Given the description of an element on the screen output the (x, y) to click on. 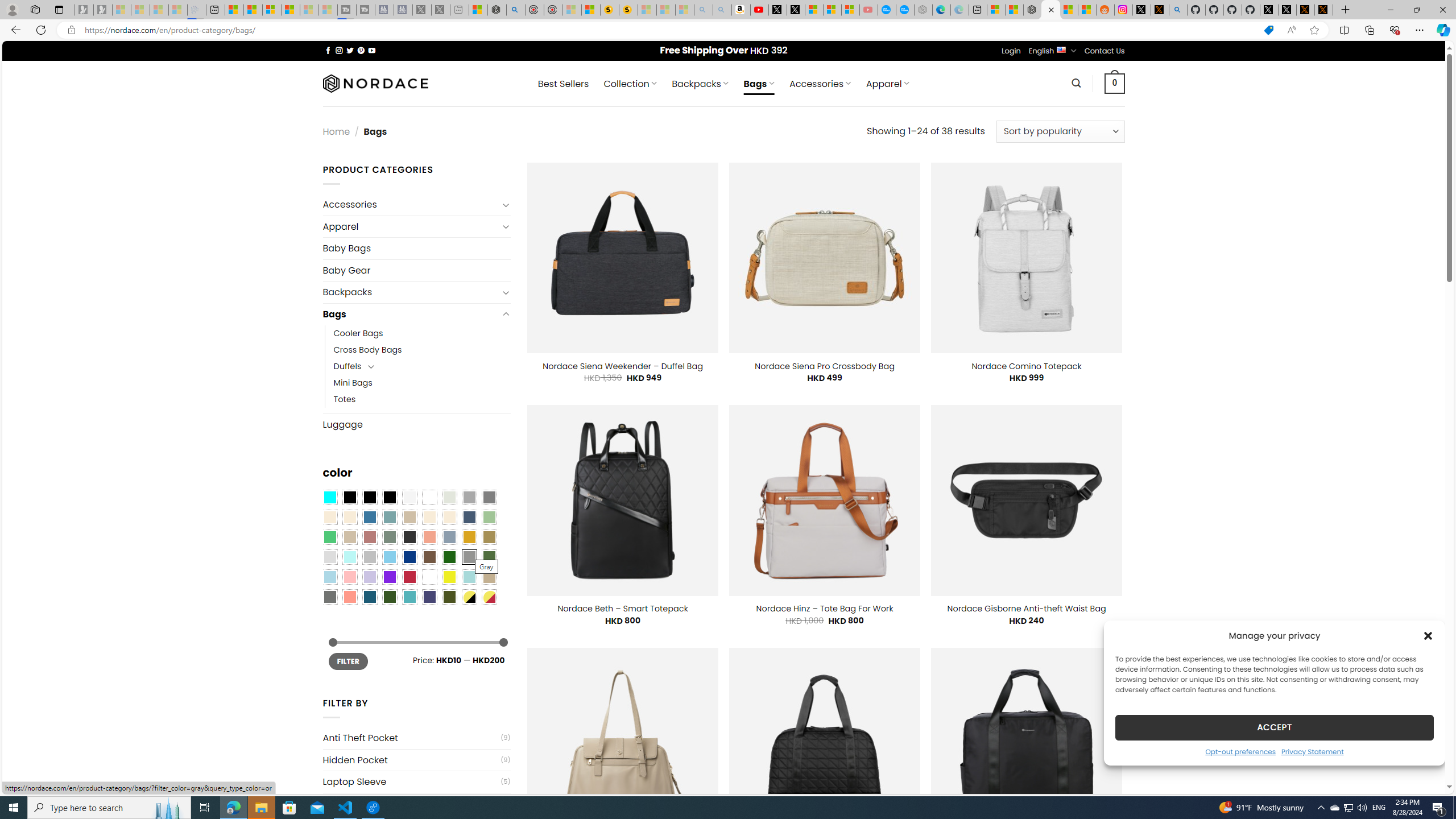
Follow on Facebook (327, 49)
 0  (1115, 83)
Brownie (408, 517)
Newsletter Sign Up - Sleeping (102, 9)
Pink (349, 577)
  Best Sellers (563, 83)
Amazon Echo Dot PNG - Search Images - Sleeping (721, 9)
Baby Gear (416, 269)
Silver (369, 557)
All Gray (488, 497)
Follow on Instagram (338, 49)
Blue Sage (389, 517)
